Given the description of an element on the screen output the (x, y) to click on. 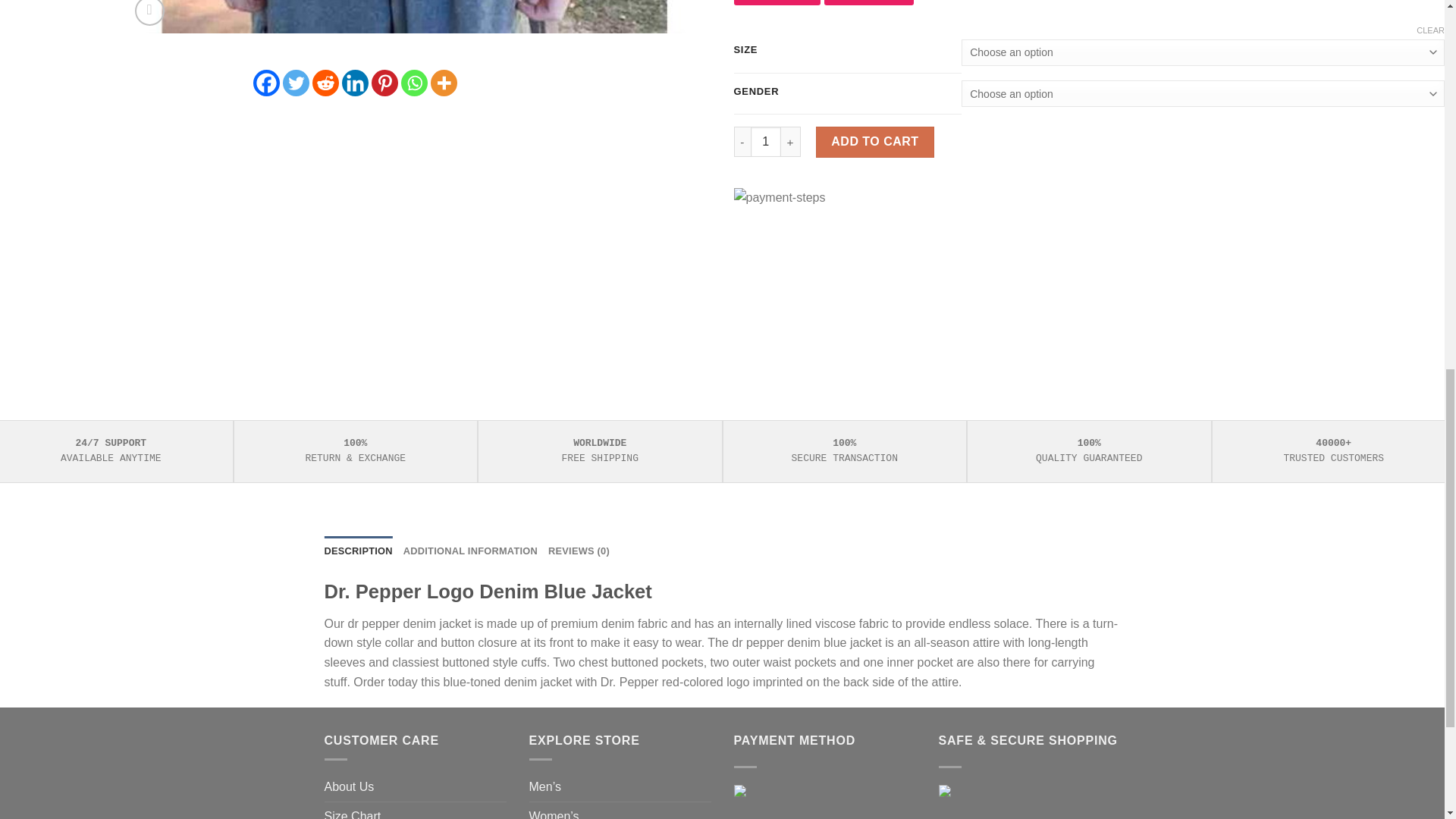
Zoom (149, 12)
dr-pepper-blue-denim-jacket (992, 16)
Twitter (295, 82)
dr-pepper-denim-jacket (414, 16)
Facebook (266, 82)
1 (765, 141)
